Given the description of an element on the screen output the (x, y) to click on. 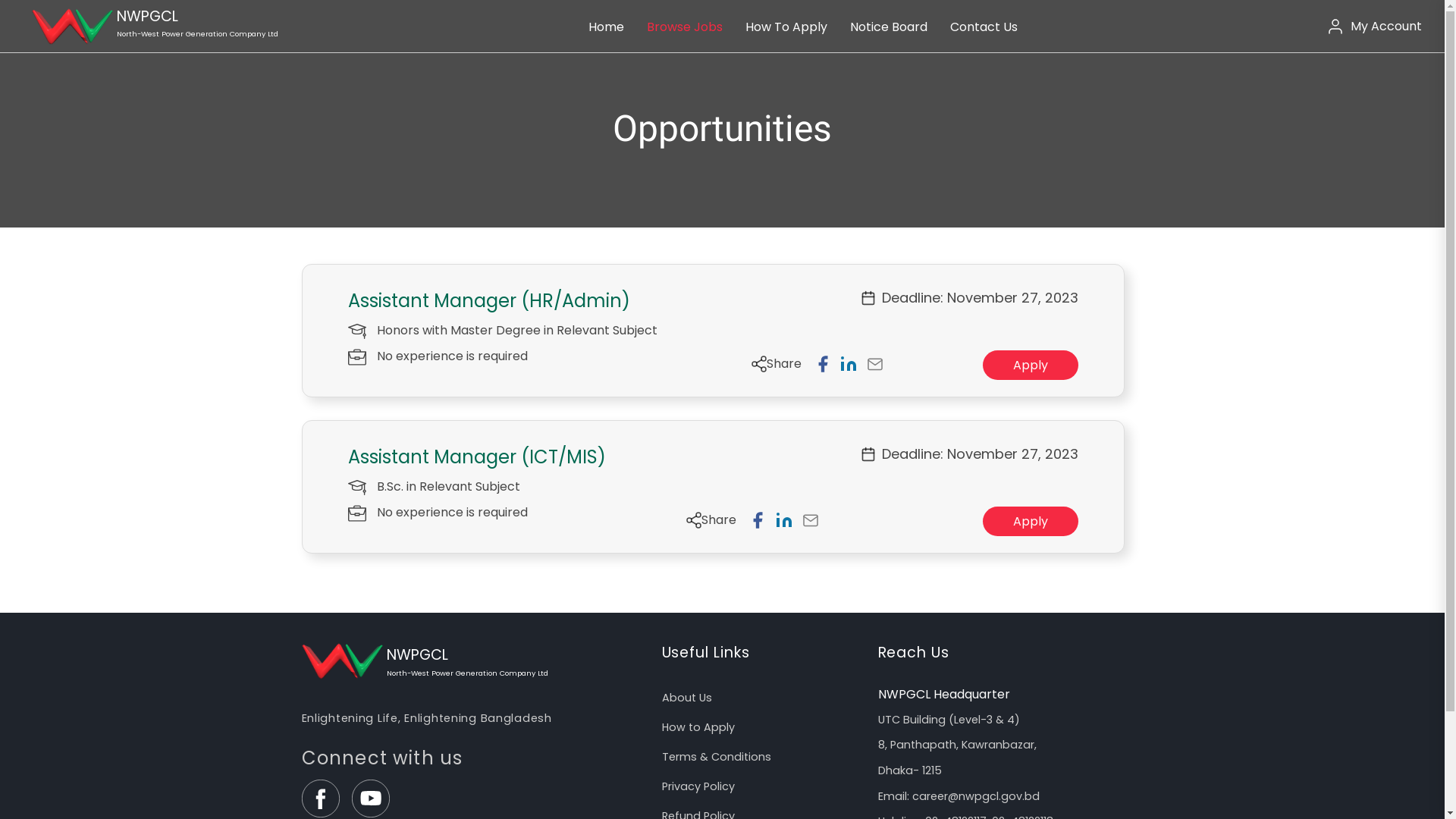
About Us Element type: text (757, 698)
Privacy Policy Element type: text (757, 786)
My Account Element type: text (1374, 25)
Contact Us Element type: text (983, 26)
NWPGCL
North-West Power Generation Company Ltd Element type: text (150, 26)
Home Element type: text (605, 26)
Terms & Conditions Element type: text (757, 757)
How To Apply Element type: text (785, 26)
Apply Element type: text (1030, 364)
Apply Element type: text (1030, 521)
How to Apply Element type: text (757, 727)
Browse Jobs Element type: text (684, 26)
Notice Board Element type: text (888, 26)
